Given the description of an element on the screen output the (x, y) to click on. 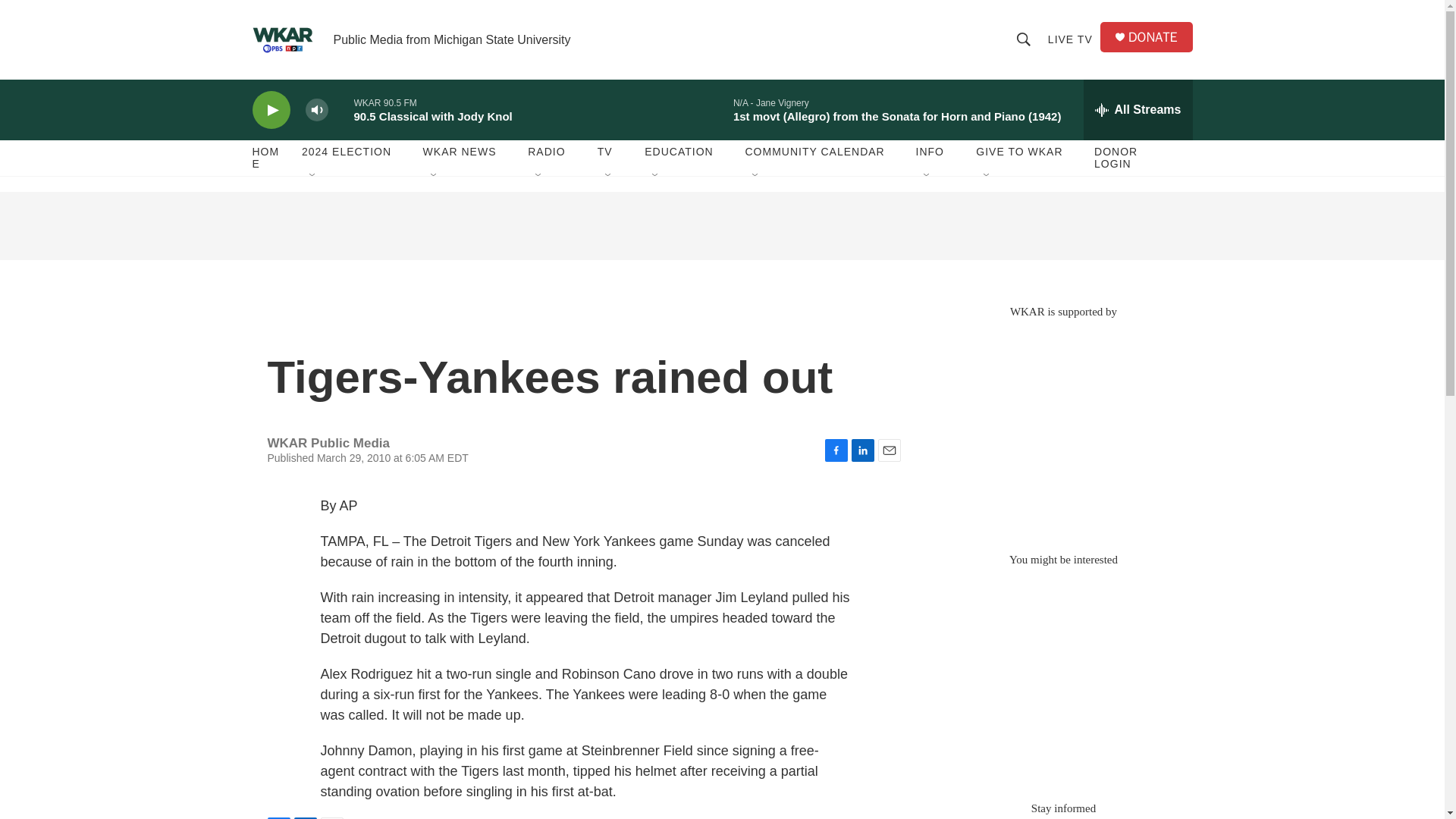
3rd party ad content (1062, 428)
3rd party ad content (721, 225)
3rd party ad content (1062, 677)
